Given the description of an element on the screen output the (x, y) to click on. 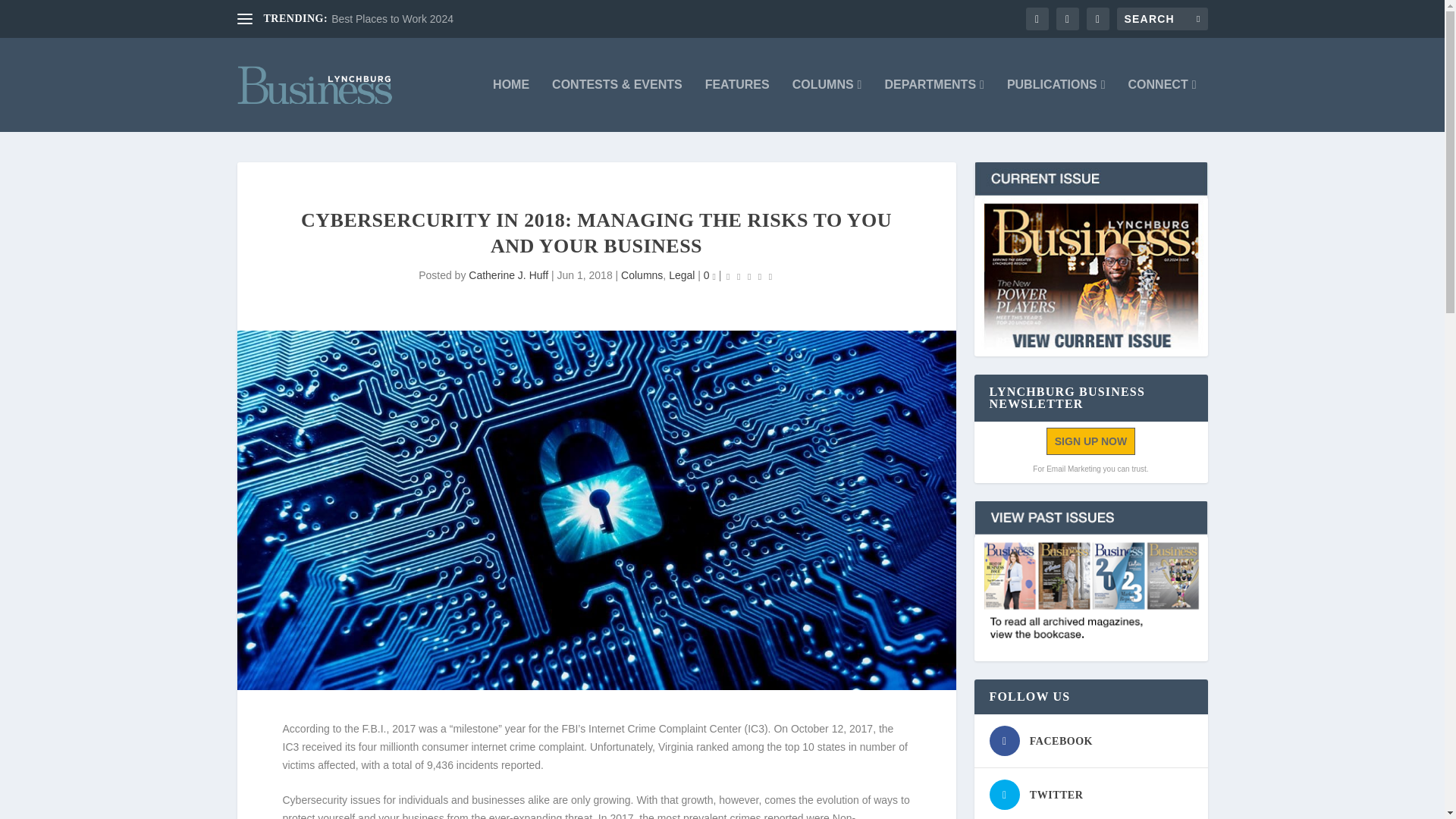
PUBLICATIONS (1056, 104)
Rating: 0.00 (748, 275)
Search for: (1161, 18)
DEPARTMENTS (933, 104)
FEATURES (737, 104)
Posts by Catherine J. Huff (508, 275)
Best Places to Work 2024 (391, 19)
COLUMNS (826, 104)
